Given the description of an element on the screen output the (x, y) to click on. 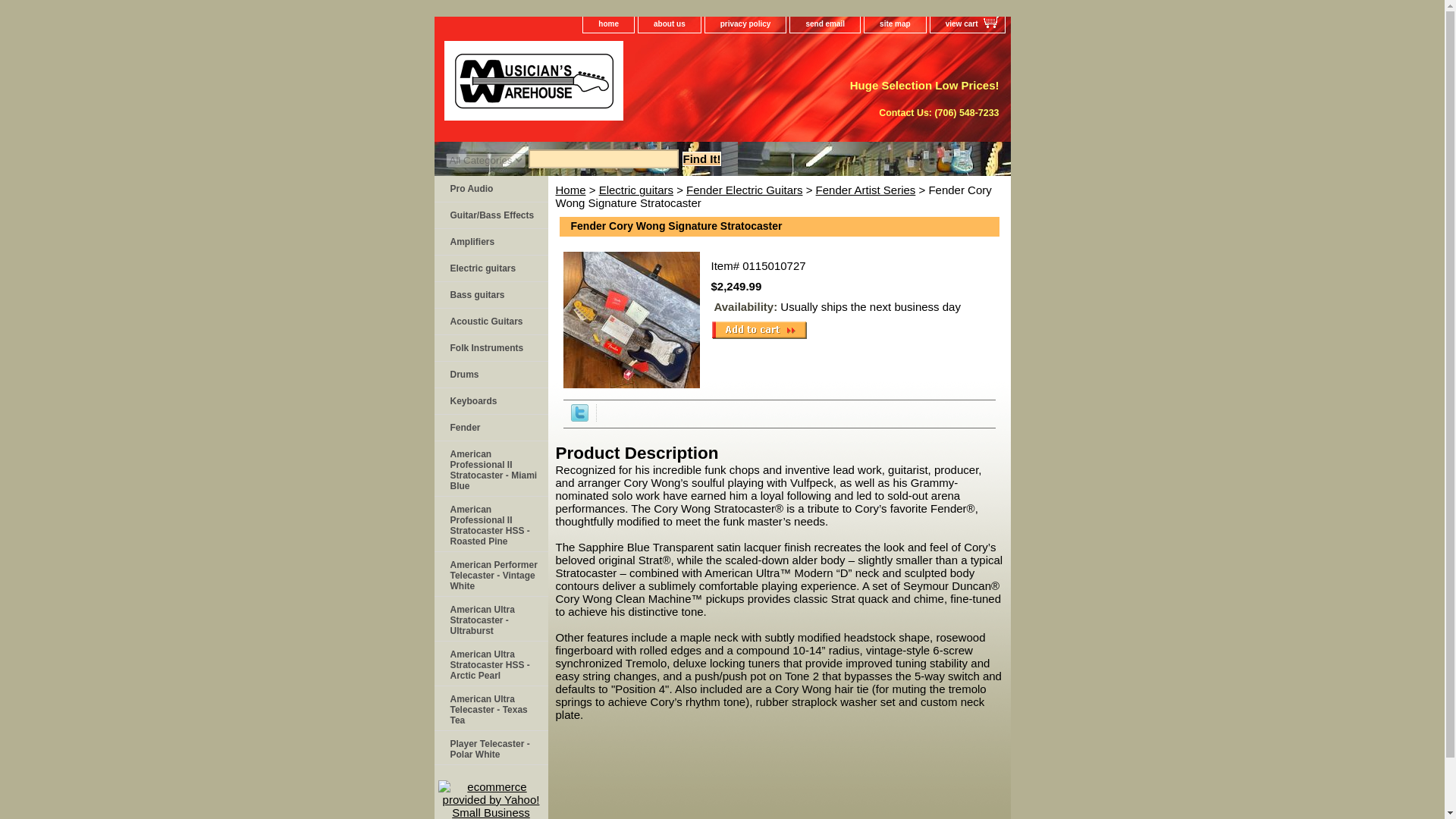
Keyboards (490, 401)
Amplifiers (490, 242)
home (608, 24)
Folk Instruments (490, 347)
Find It! (702, 158)
Keyboards (490, 401)
Home (569, 189)
view cart (967, 24)
The Musician's Warehouse (622, 85)
American Professional II Stratocaster HSS - Roasted Pine (490, 524)
American Professional II Stratocaster - Miami Blue (490, 468)
Tweet (579, 417)
site map (895, 24)
American Ultra Stratocaster - Ultraburst (490, 619)
American Ultra Stratocaster HSS - Arctic Pearl (490, 663)
